Given the description of an element on the screen output the (x, y) to click on. 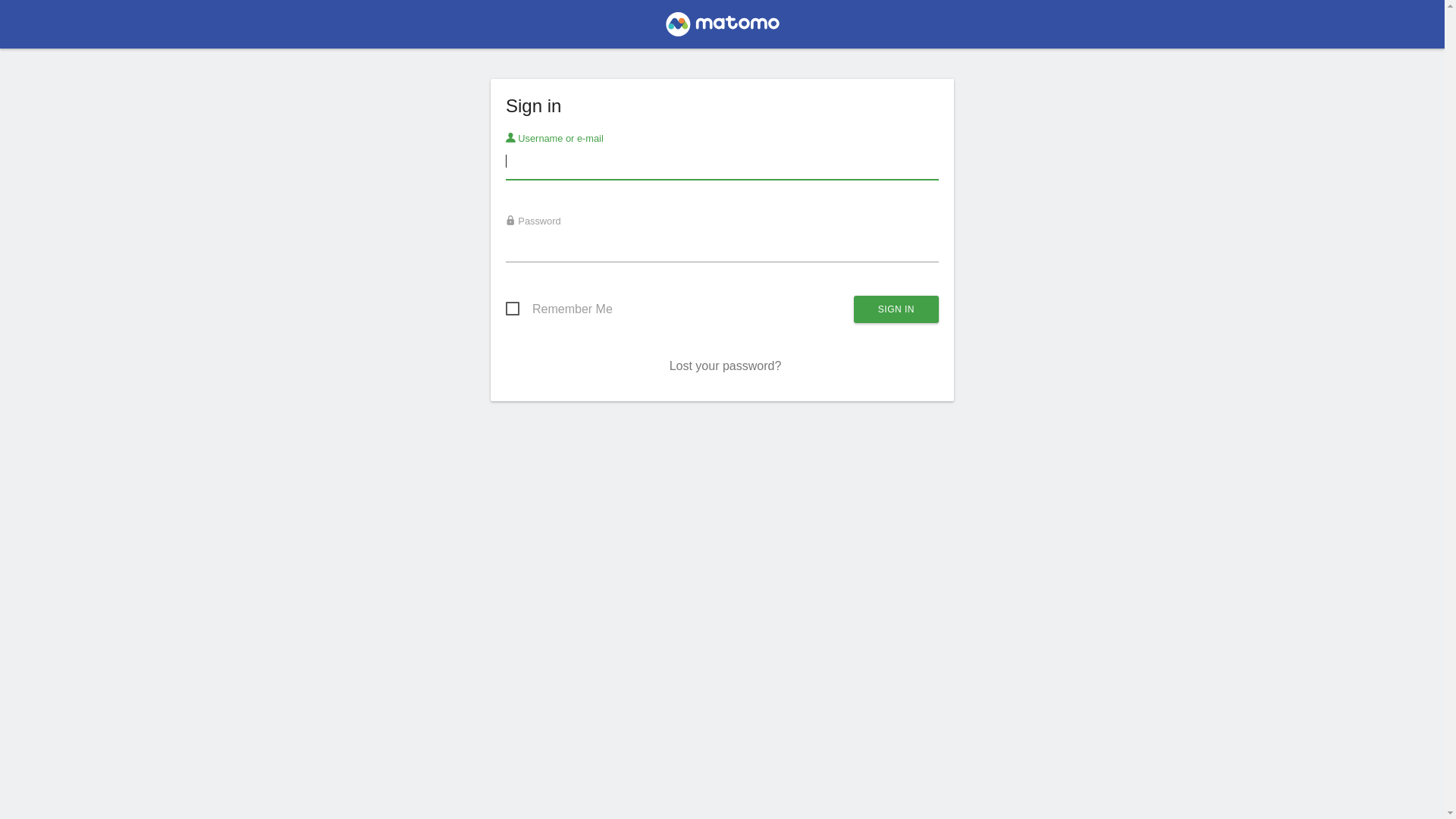
Matomo # free/libre analytics platform Element type: hover (722, 27)
Sign in Element type: text (895, 309)
Lost your password? Element type: text (725, 365)
